Given the description of an element on the screen output the (x, y) to click on. 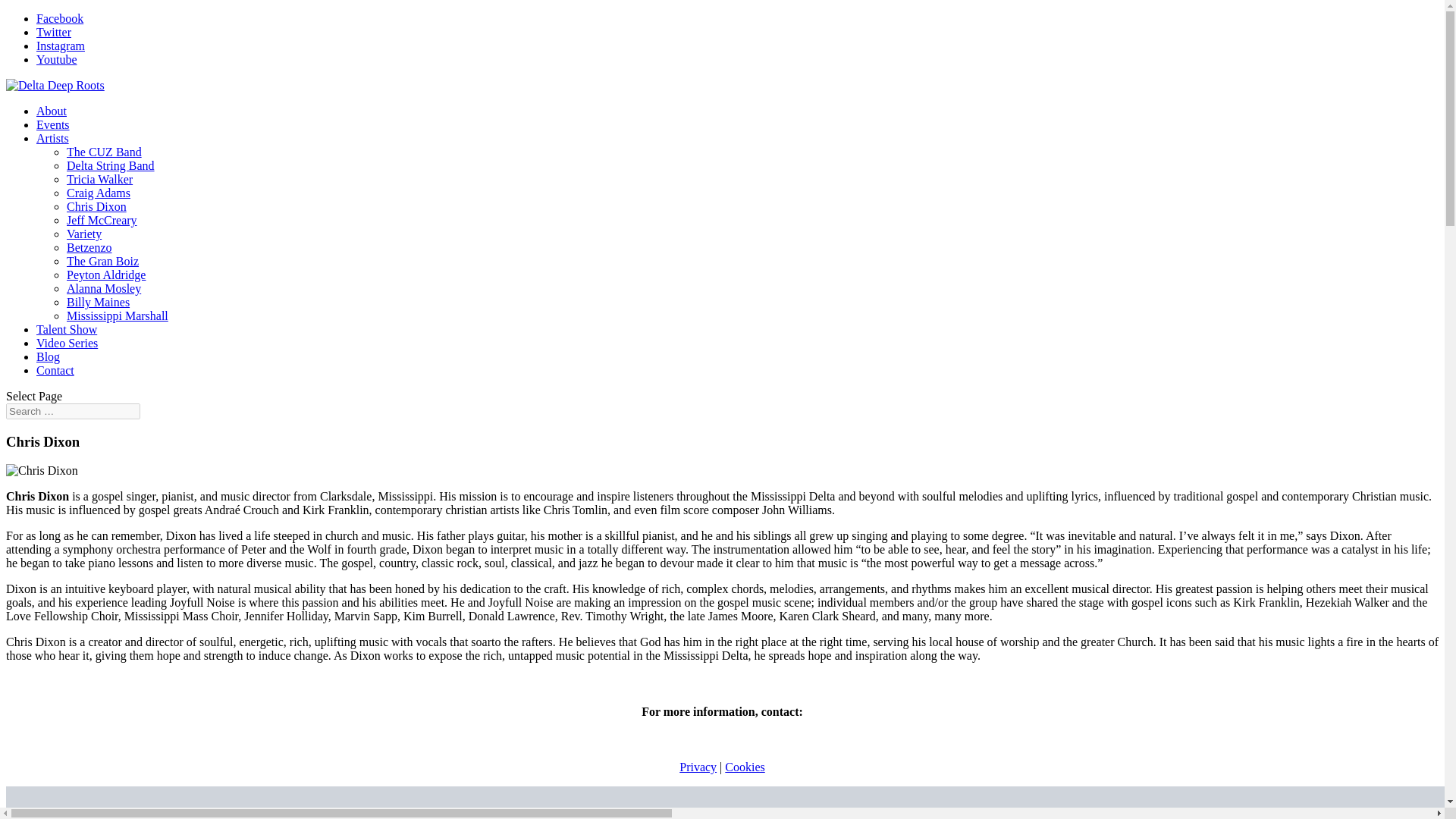
Privacy (697, 766)
Video Series (66, 342)
Artists (52, 137)
Peyton Aldridge (105, 274)
Delta String Band (110, 164)
Betzenzo (89, 246)
Craig Adams (98, 192)
Jeff McCreary (101, 219)
Tricia Walker (99, 178)
Billy Maines (97, 301)
Variety (83, 233)
Instagram (60, 45)
The CUZ Band (103, 151)
Youtube (56, 59)
Contact (55, 369)
